Given the description of an element on the screen output the (x, y) to click on. 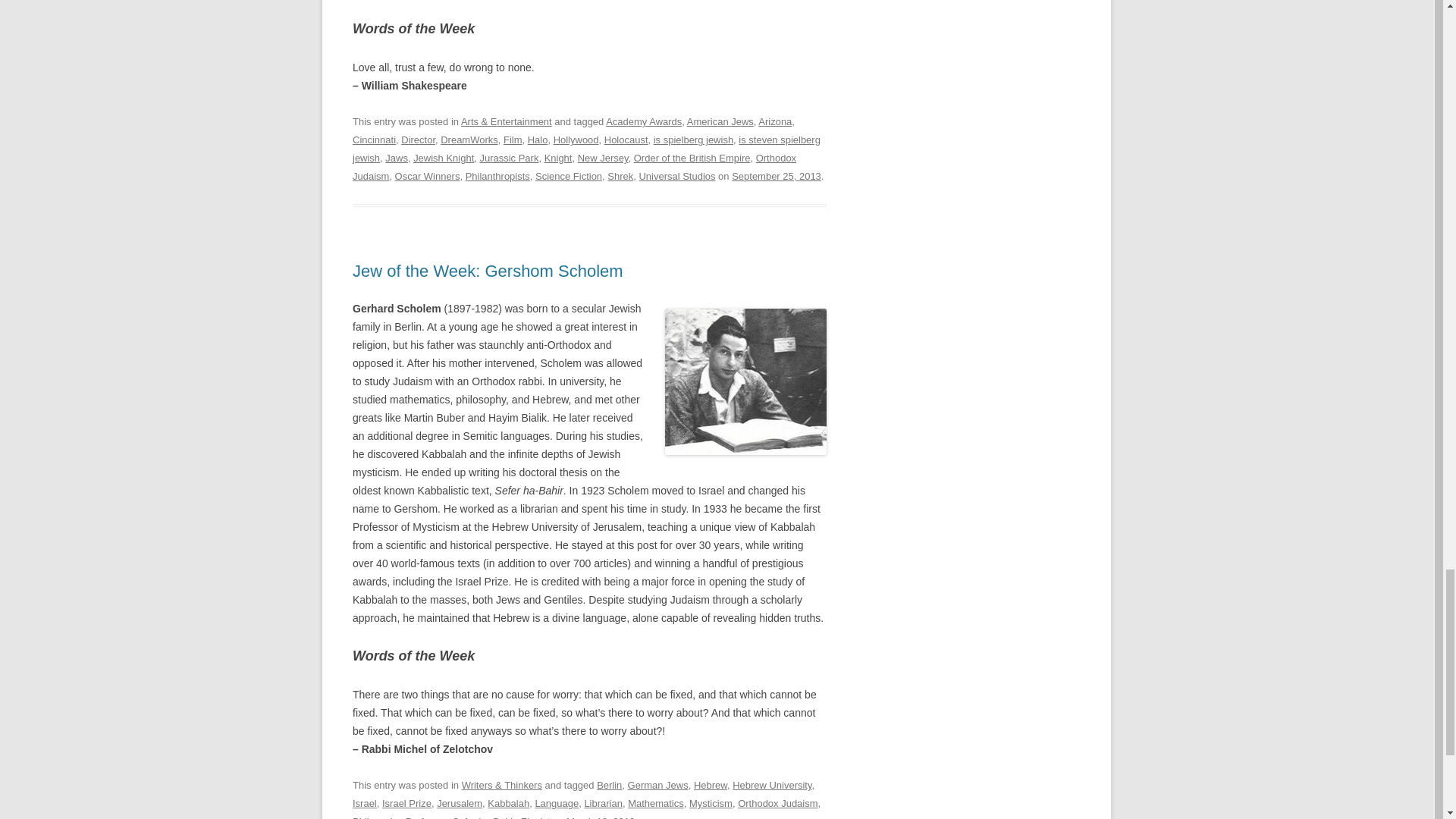
Academy Awards (643, 121)
2:05 pm (600, 817)
Director (418, 139)
American Jews (720, 121)
Arizona (775, 121)
12:44 pm (776, 175)
DreamWorks (469, 139)
Cincinnati (374, 139)
